Given the description of an element on the screen output the (x, y) to click on. 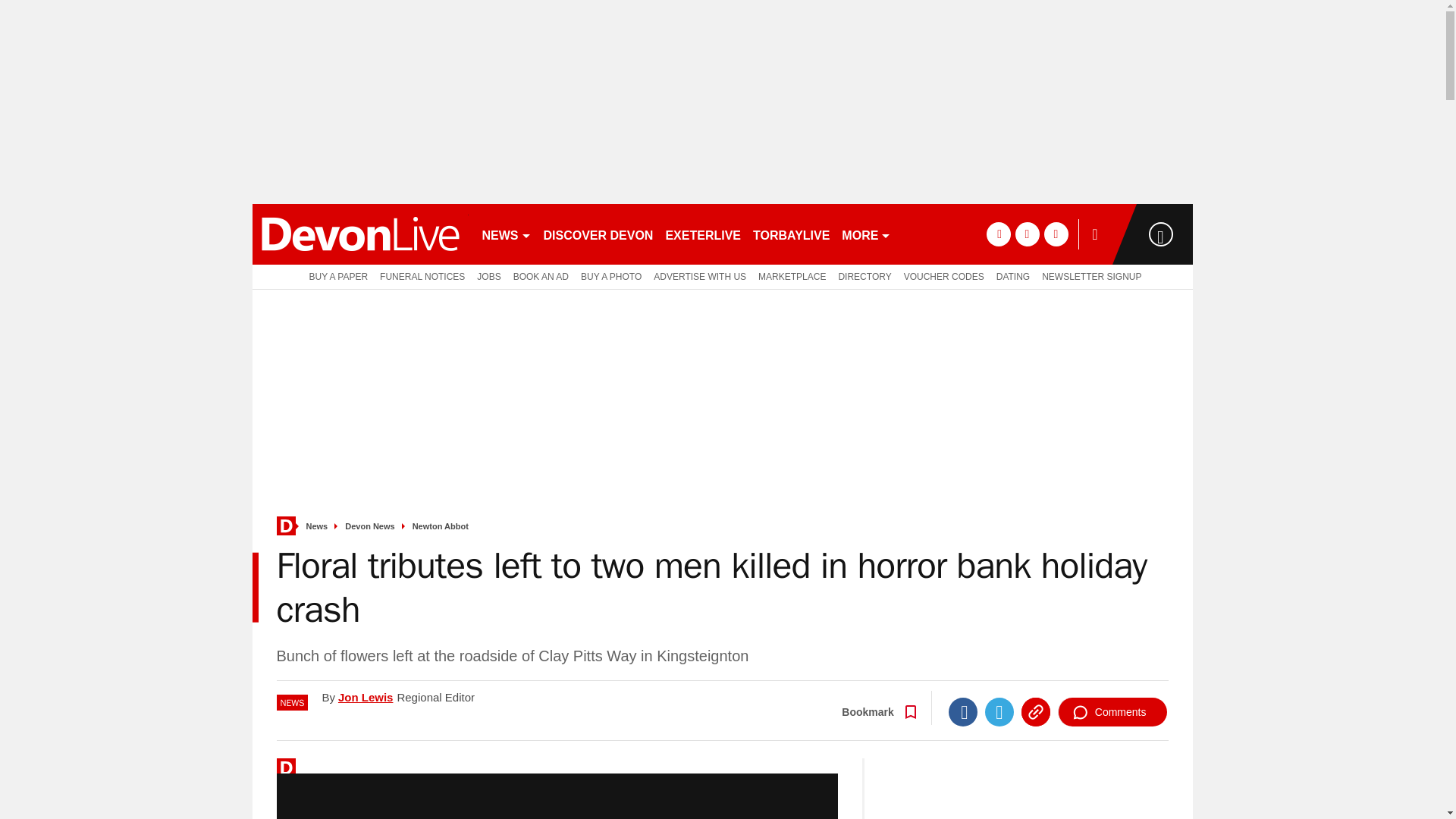
facebook (997, 233)
NEWS (506, 233)
devonlive (359, 233)
TORBAYLIVE (790, 233)
twitter (1026, 233)
Comments (1112, 711)
Twitter (999, 711)
Facebook (962, 711)
instagram (1055, 233)
MORE (865, 233)
